Given the description of an element on the screen output the (x, y) to click on. 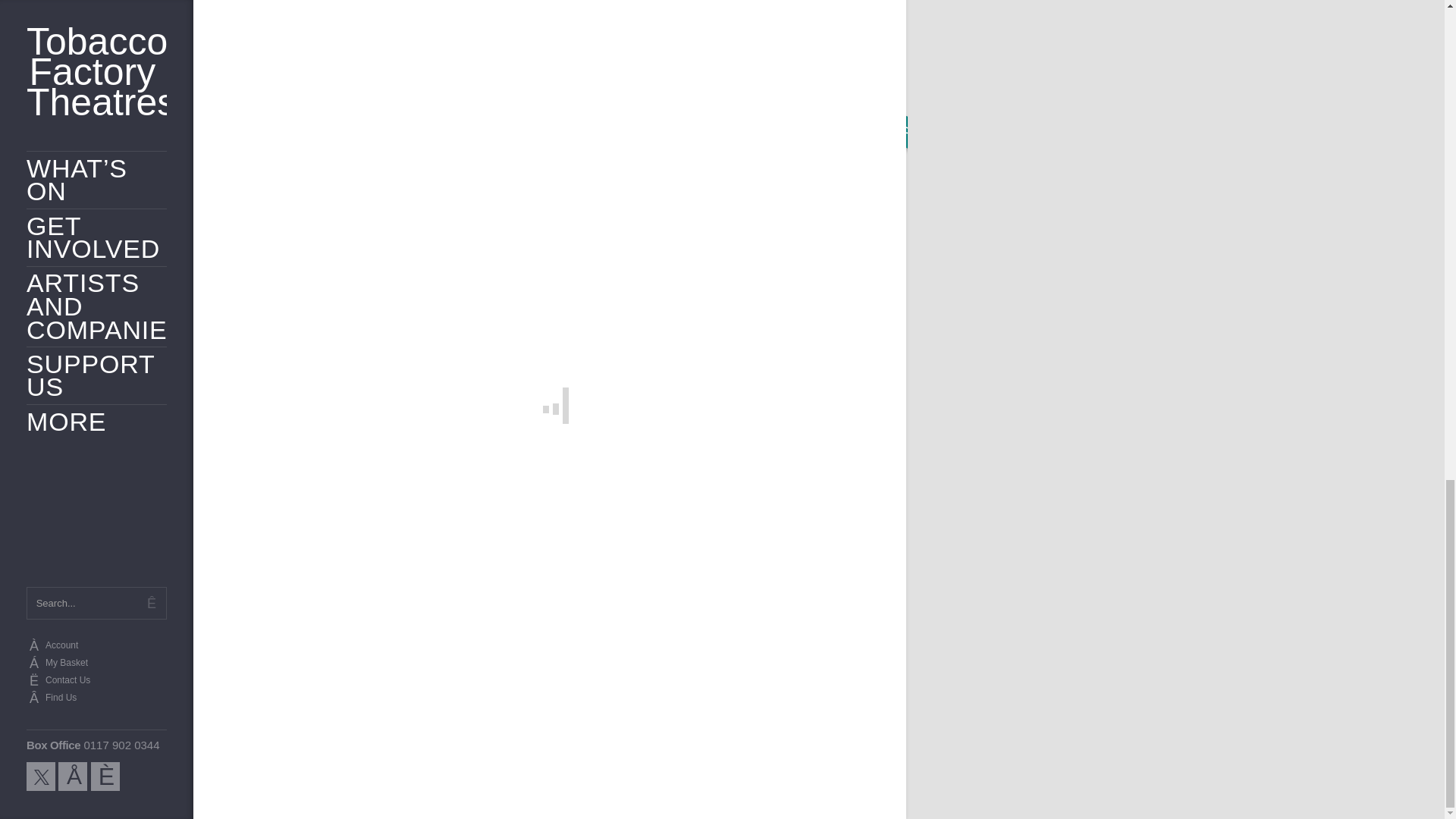
Claytime (550, 535)
Fiasco Design (855, 784)
Matt Forde: End Of An Era Tour (321, 535)
Gwyneth Goes Skiing (777, 535)
